Given the description of an element on the screen output the (x, y) to click on. 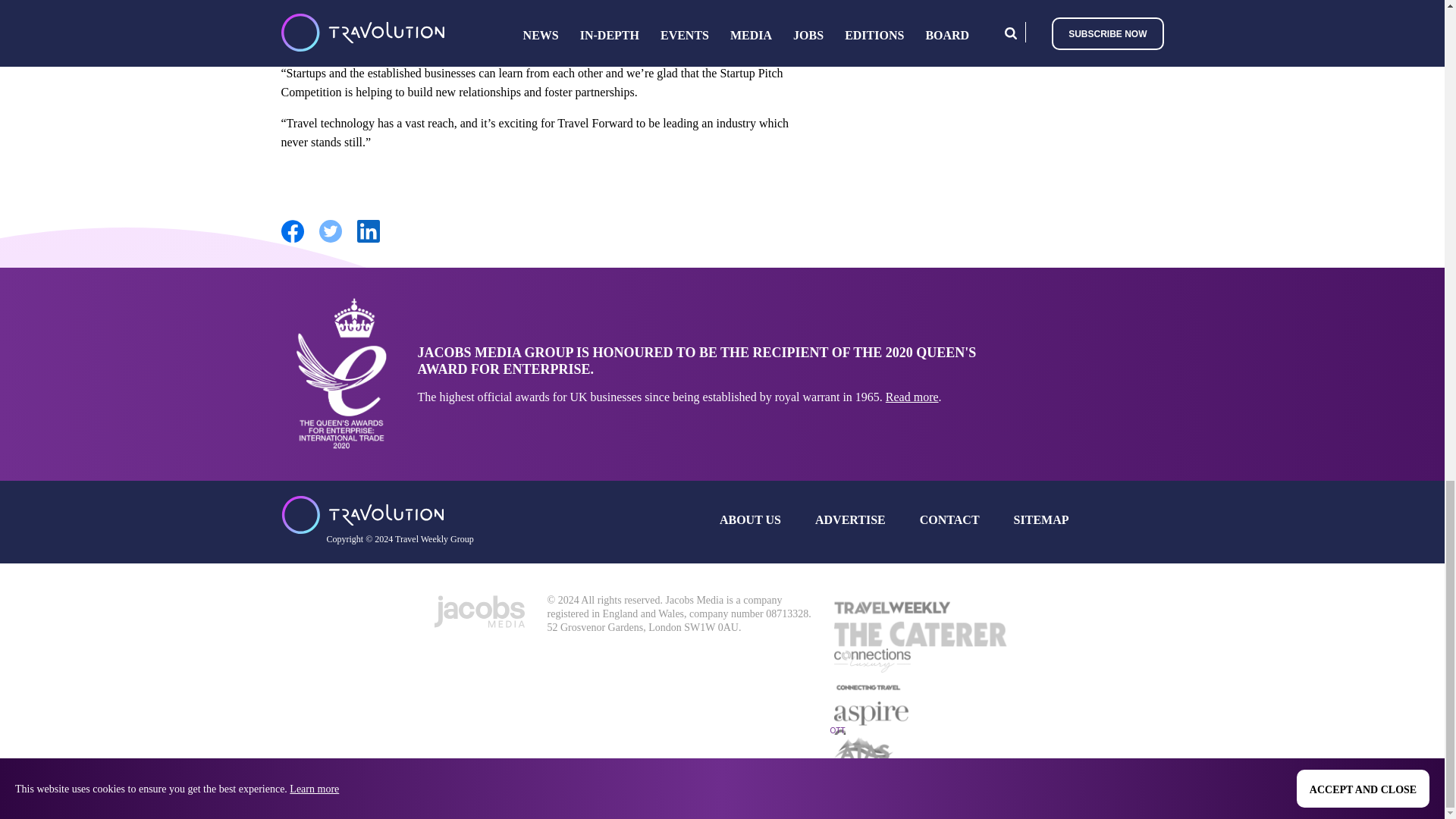
Share on LinkedIn (367, 239)
Share on Facebook (291, 239)
Share on Twitter (329, 239)
